Given the description of an element on the screen output the (x, y) to click on. 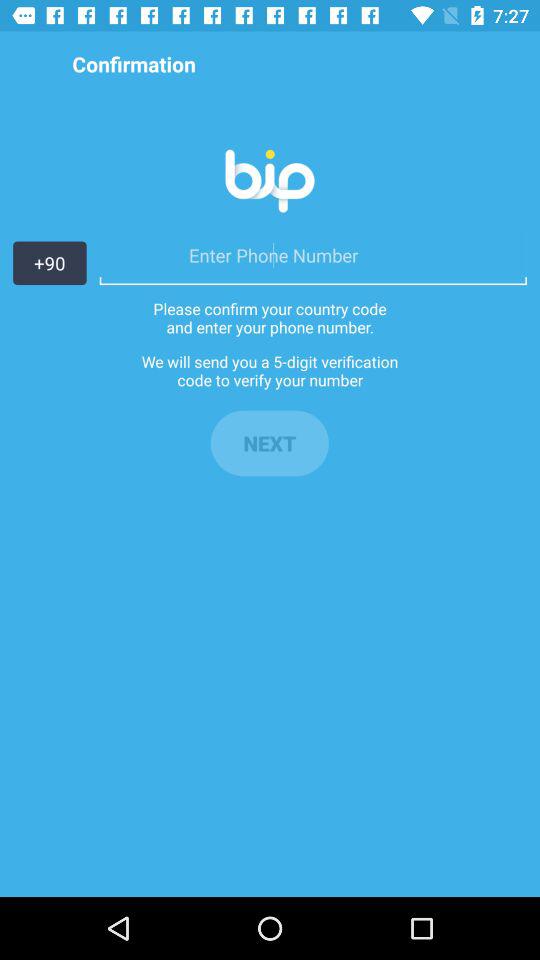
flip to the +90 icon (49, 263)
